Given the description of an element on the screen output the (x, y) to click on. 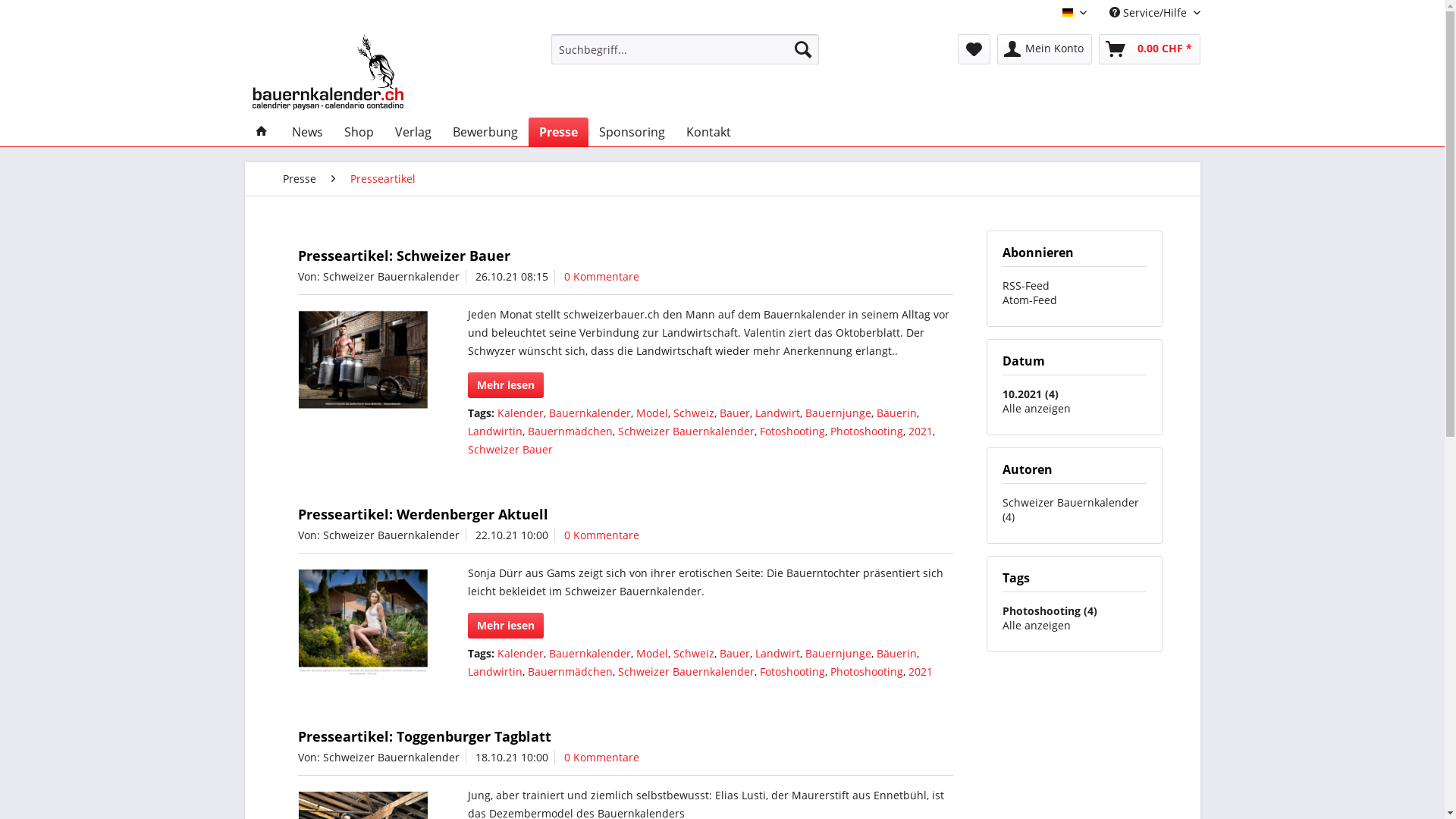
0 Kommentare Element type: text (601, 534)
News Element type: text (306, 131)
RSS-Feed Element type: text (1025, 285)
Verlag Element type: text (412, 131)
Photoshooting Element type: text (866, 671)
Bauernjunge Element type: text (838, 412)
Kalender Element type: text (520, 412)
Mein Konto Element type: text (1043, 49)
Kalender Element type: text (520, 653)
Bauer Element type: text (734, 412)
2021 Element type: text (920, 671)
Presse Element type: text (298, 178)
Presseartikel: Schweizer Bauer Element type: text (403, 255)
Schweizer Bauernkalender Element type: text (686, 671)
Presseartikel: Toggenburger Tagblatt Element type: text (423, 736)
Alle anzeigen Element type: text (1036, 625)
Bauernjunge Element type: text (838, 653)
Landwirt Element type: text (777, 412)
Presse Element type: text (557, 131)
Schweiz Element type: text (693, 412)
Bauer Element type: text (734, 653)
Bewerbung Element type: text (484, 131)
Schweizer Bauernkalender - zur Startseite wechseln Element type: hover (326, 71)
Landwirtin Element type: text (494, 671)
0 Kommentare Element type: text (601, 276)
Presseartikel Element type: text (382, 178)
Fotoshooting Element type: text (792, 671)
Model Element type: text (652, 412)
2021 Element type: text (920, 430)
Presseartikel: Schweizer Bauer Element type: hover (362, 359)
Sponsoring Element type: text (631, 131)
Presseartikel: Werdenberger Aktuell Element type: text (422, 514)
Model Element type: text (652, 653)
0.00 CHF * Element type: text (1148, 49)
Schweizer Bauernkalender (4) Element type: text (1070, 509)
Bauernkalender Element type: text (589, 653)
Fotoshooting Element type: text (792, 430)
10.2021 (4) Element type: text (1030, 393)
Photoshooting Element type: text (866, 430)
Mehr lesen Element type: text (505, 385)
Mehr lesen Element type: text (505, 625)
Schweizer Bauernkalender Element type: text (686, 430)
Landwirt Element type: text (777, 653)
0 Kommentare Element type: text (601, 756)
Photoshooting (4) Element type: text (1049, 610)
Atom-Feed Element type: text (1029, 299)
Shop Element type: text (358, 131)
Schweizer Bauer Element type: text (509, 449)
Home Element type: hover (260, 131)
Landwirtin Element type: text (494, 430)
Schweiz Element type: text (693, 653)
Kontakt Element type: text (707, 131)
Merkzettel Element type: hover (973, 49)
Bauernkalender Element type: text (589, 412)
Presseartikel: Werdenberger Aktuell Element type: hover (362, 621)
Alle anzeigen Element type: text (1036, 408)
